Given the description of an element on the screen output the (x, y) to click on. 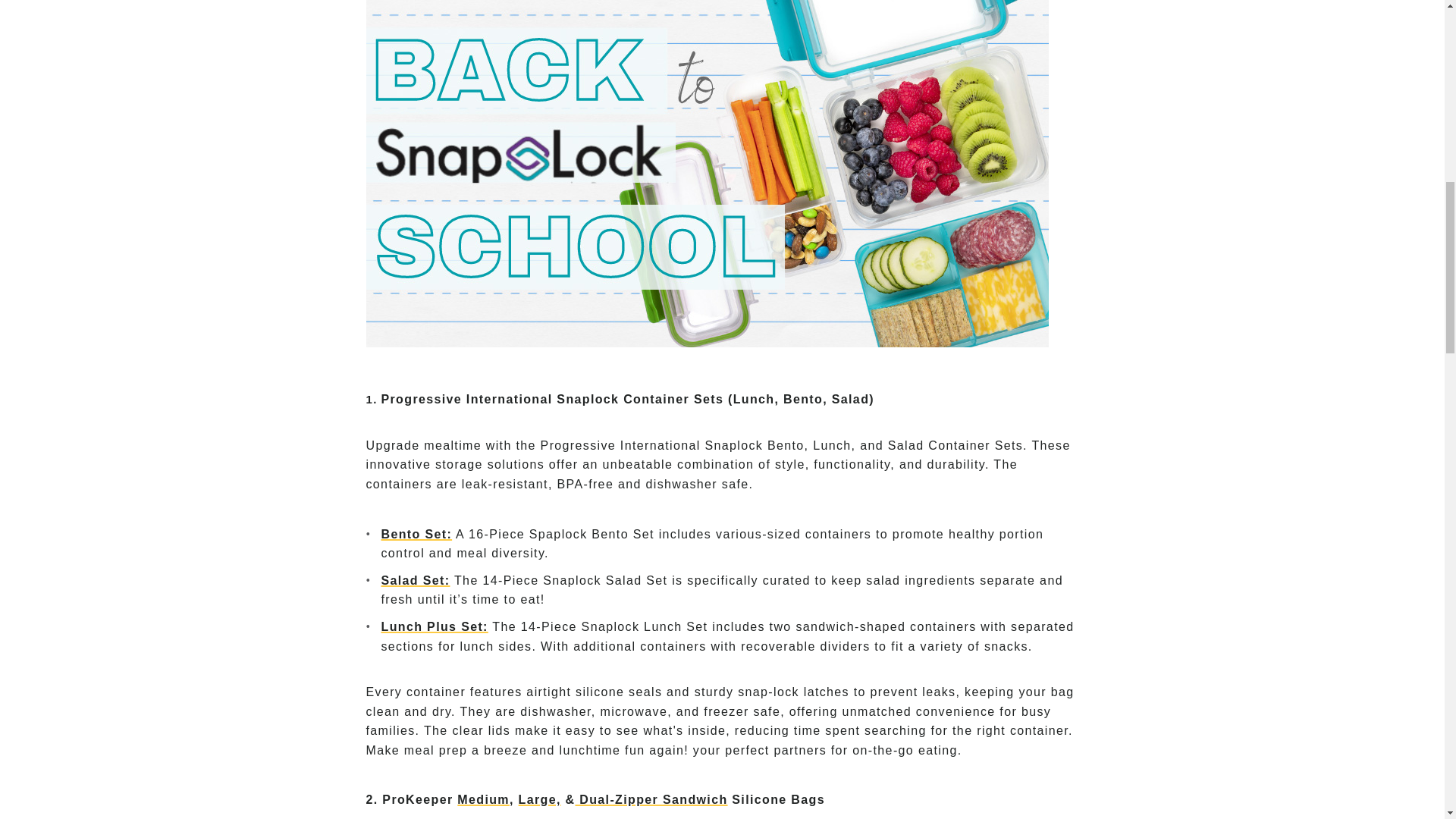
Large, (539, 799)
Salad Set: (414, 580)
Lunch Plus Set: (433, 626)
Bento Set: (415, 533)
Medium (483, 799)
Dual-Zipper Sandwich (650, 799)
